Given the description of an element on the screen output the (x, y) to click on. 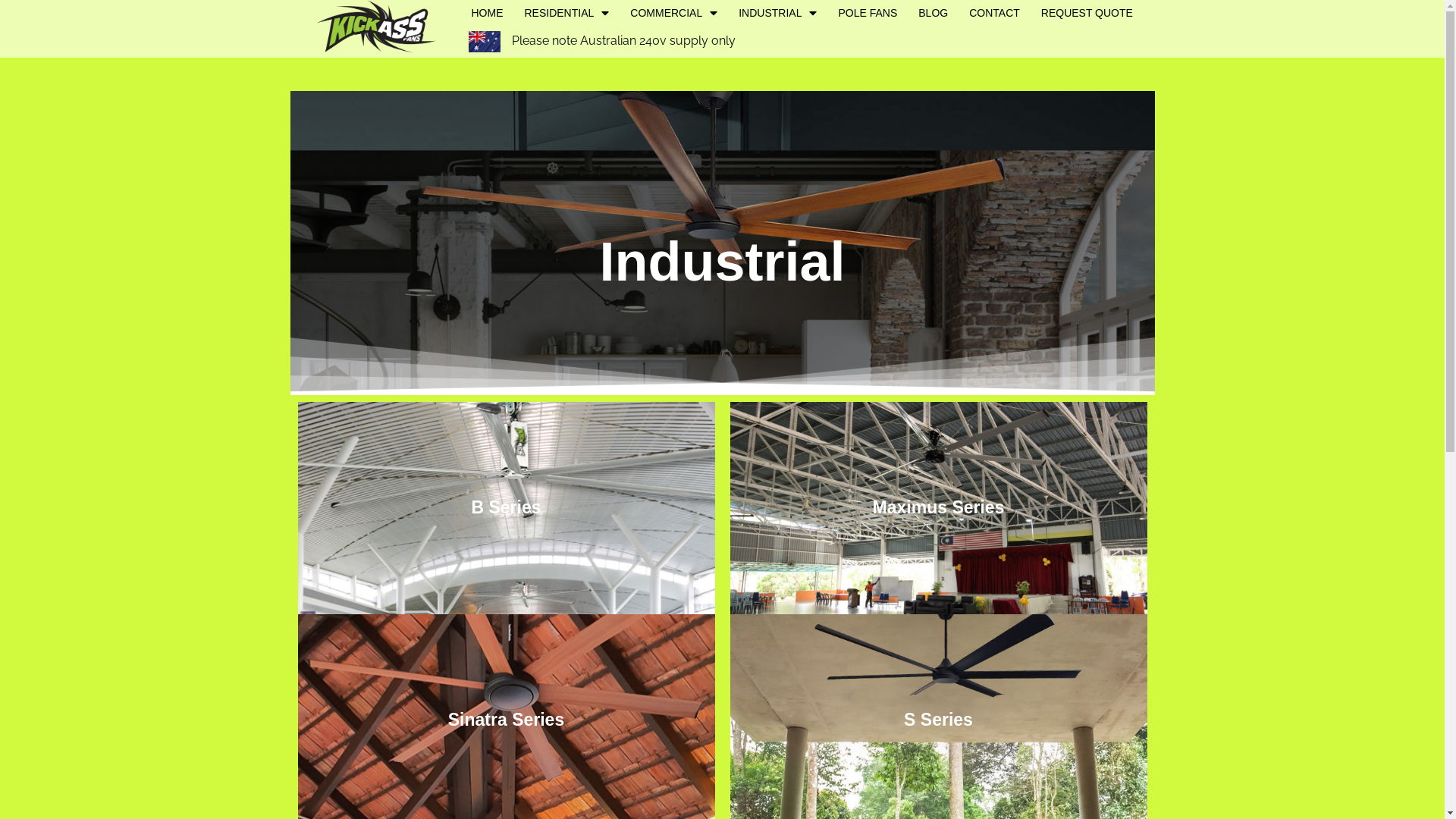
INDUSTRIAL Element type: text (777, 12)
RESIDENTIAL Element type: text (566, 12)
CONTACT Element type: text (994, 12)
HOME Element type: text (486, 12)
POLE FANS Element type: text (867, 12)
Maximus Series Element type: text (937, 507)
BLOG Element type: text (933, 12)
COMMERCIAL Element type: text (673, 12)
REQUEST QUOTE Element type: text (1086, 12)
B Series Element type: text (505, 507)
